Given the description of an element on the screen output the (x, y) to click on. 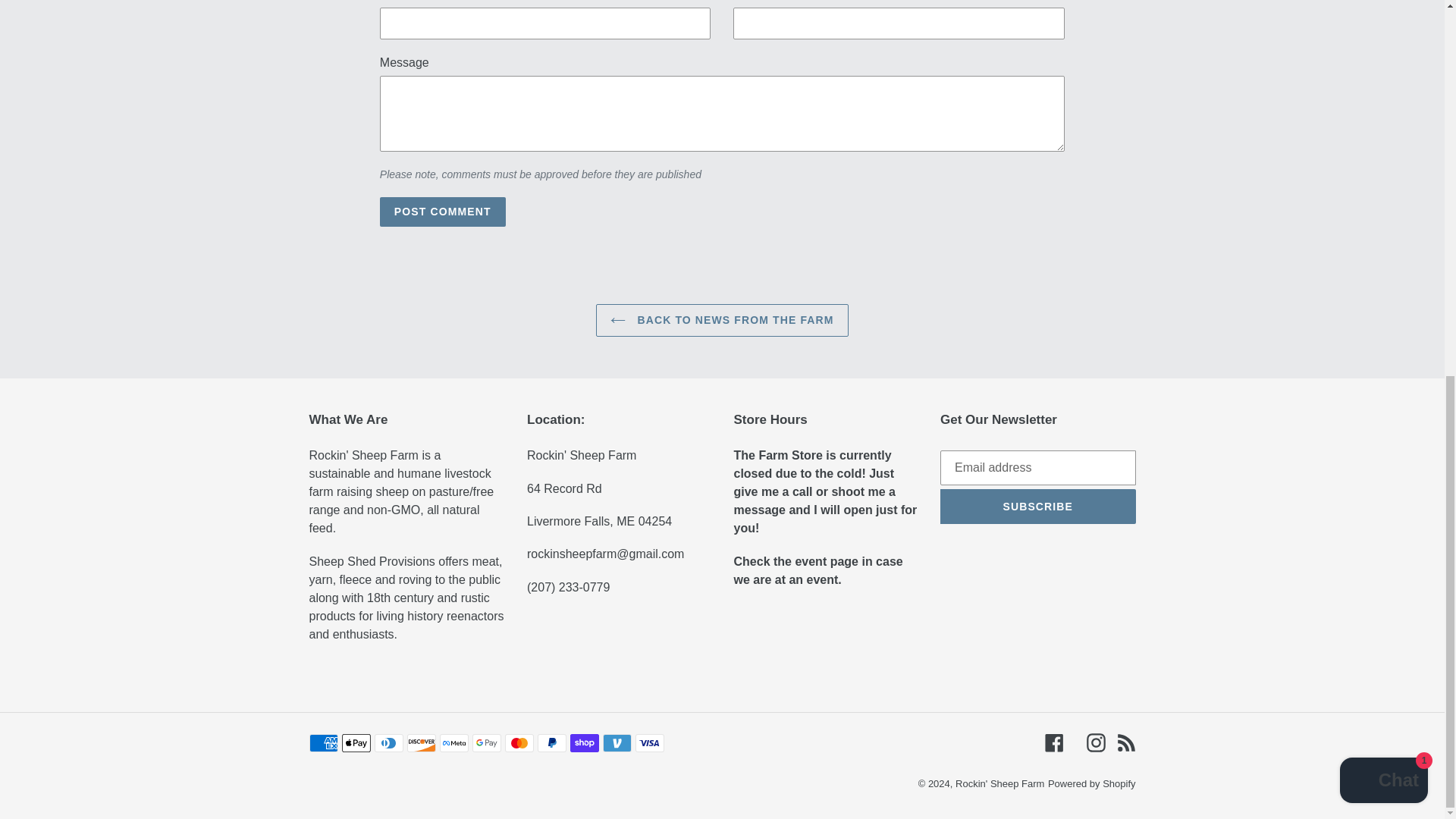
SUBSCRIBE (1037, 506)
Post comment (442, 211)
Post comment (442, 211)
RSS (1125, 742)
Powered by Shopify (1091, 783)
Instagram (1095, 742)
Rockin' Sheep Farm (999, 783)
Shopify online store chat (1383, 90)
BACK TO NEWS FROM THE FARM (721, 319)
Facebook (1054, 742)
